Given the description of an element on the screen output the (x, y) to click on. 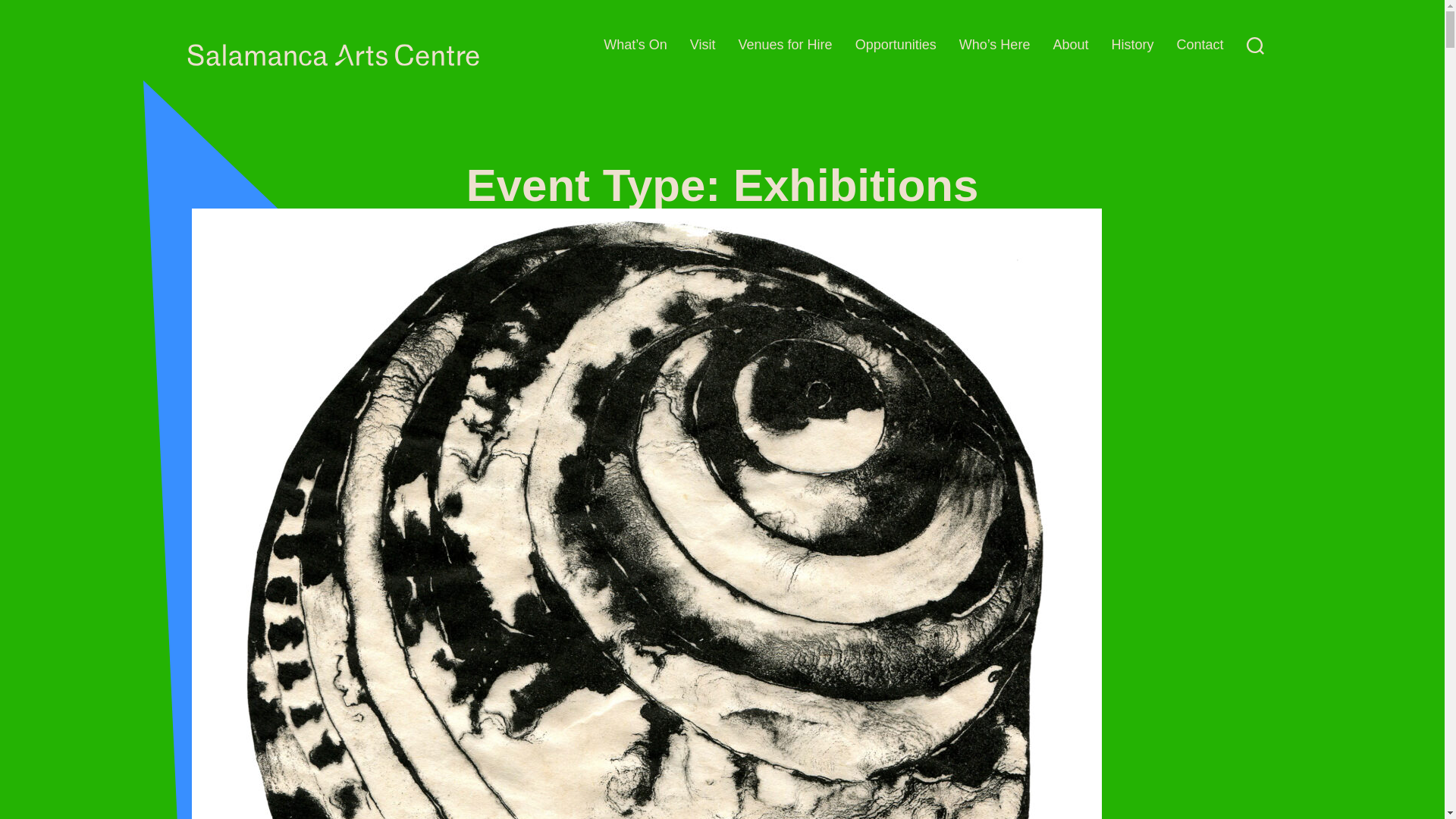
Visit (703, 45)
Venues for Hire (785, 45)
About (1069, 45)
Contact (1199, 45)
Opportunities (896, 45)
Search (1254, 45)
History (1131, 45)
